Given the description of an element on the screen output the (x, y) to click on. 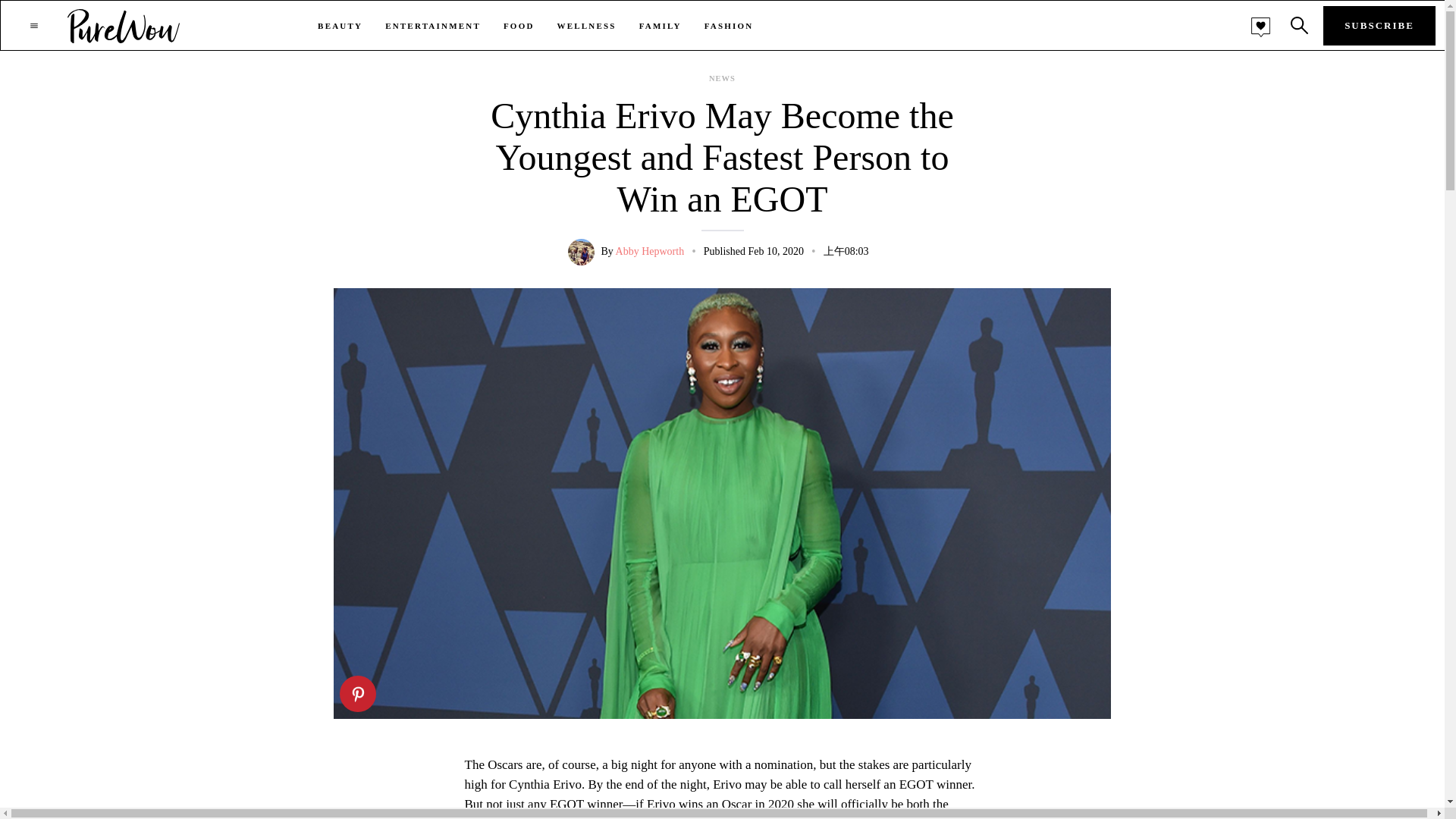
BEAUTY (339, 25)
WELLNESS (586, 25)
ENTERTAINMENT (432, 25)
FOOD (518, 25)
NEWS (722, 78)
PureWow (123, 25)
FASHION (729, 25)
FAMILY (660, 25)
Abby Hepworth (649, 251)
SUBSCRIBE (1379, 25)
